Given the description of an element on the screen output the (x, y) to click on. 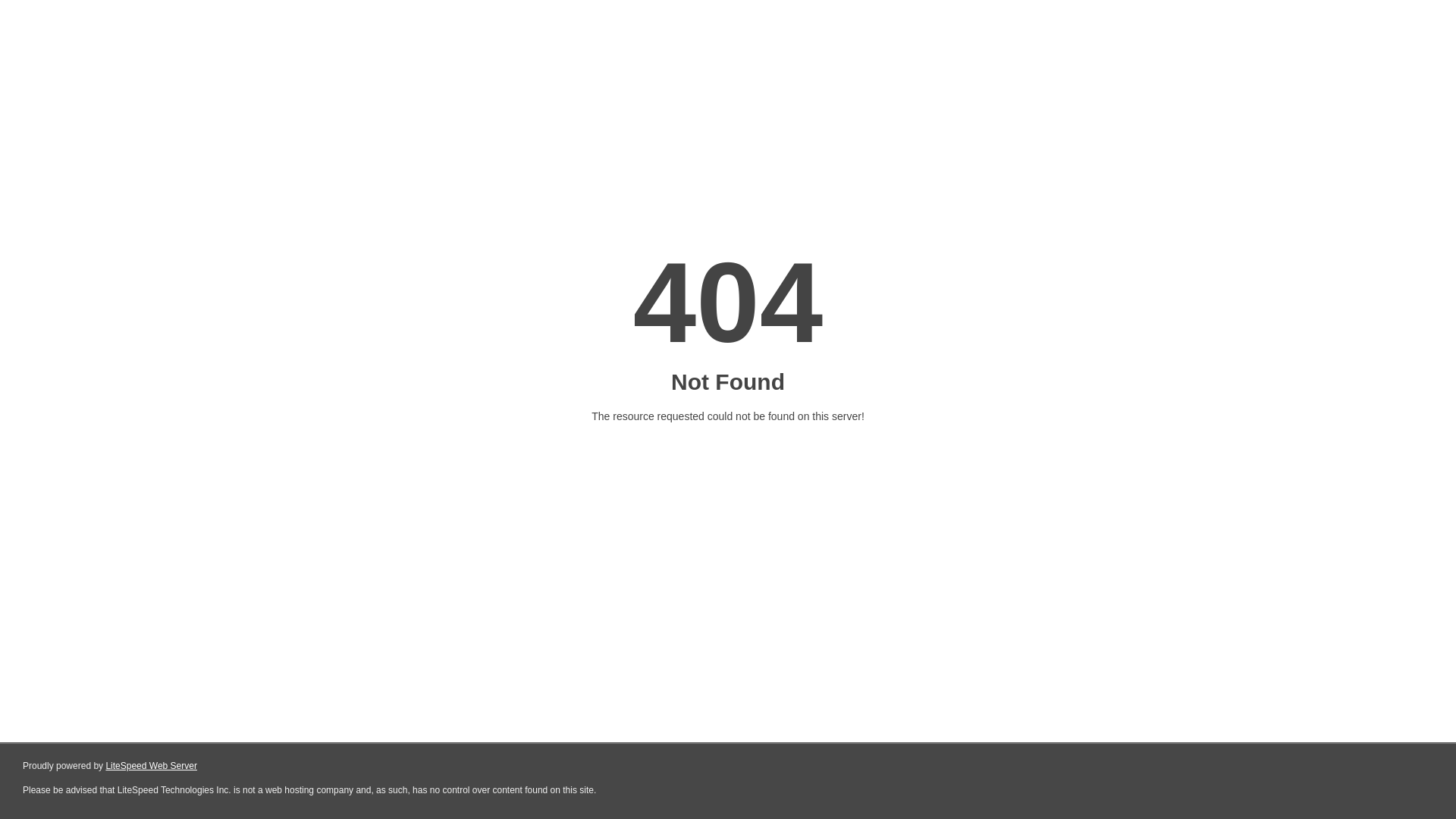
LiteSpeed Web Server Element type: text (151, 765)
